Given the description of an element on the screen output the (x, y) to click on. 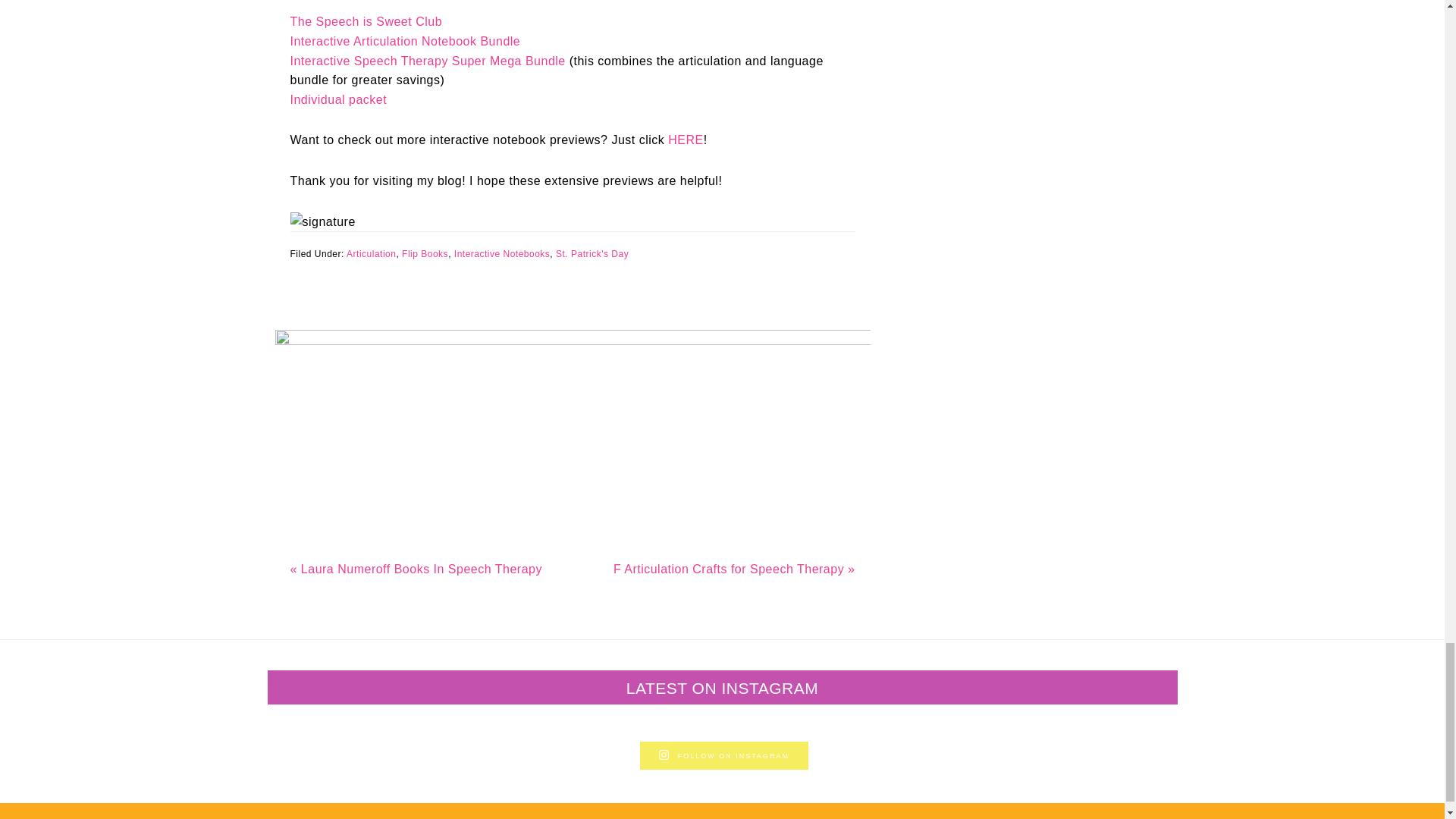
St. Patrick's Day (592, 253)
Flip Books (424, 253)
Individual packet (338, 99)
Interactive Notebooks (502, 253)
Interactive Articulation Notebook Bundle (404, 41)
HERE (685, 139)
Interactive Speech Therapy Super Mega Bundle (426, 60)
The Speech is Sweet Club (365, 21)
Articulation (371, 253)
FOLLOW ON INSTAGRAM (724, 755)
